Given the description of an element on the screen output the (x, y) to click on. 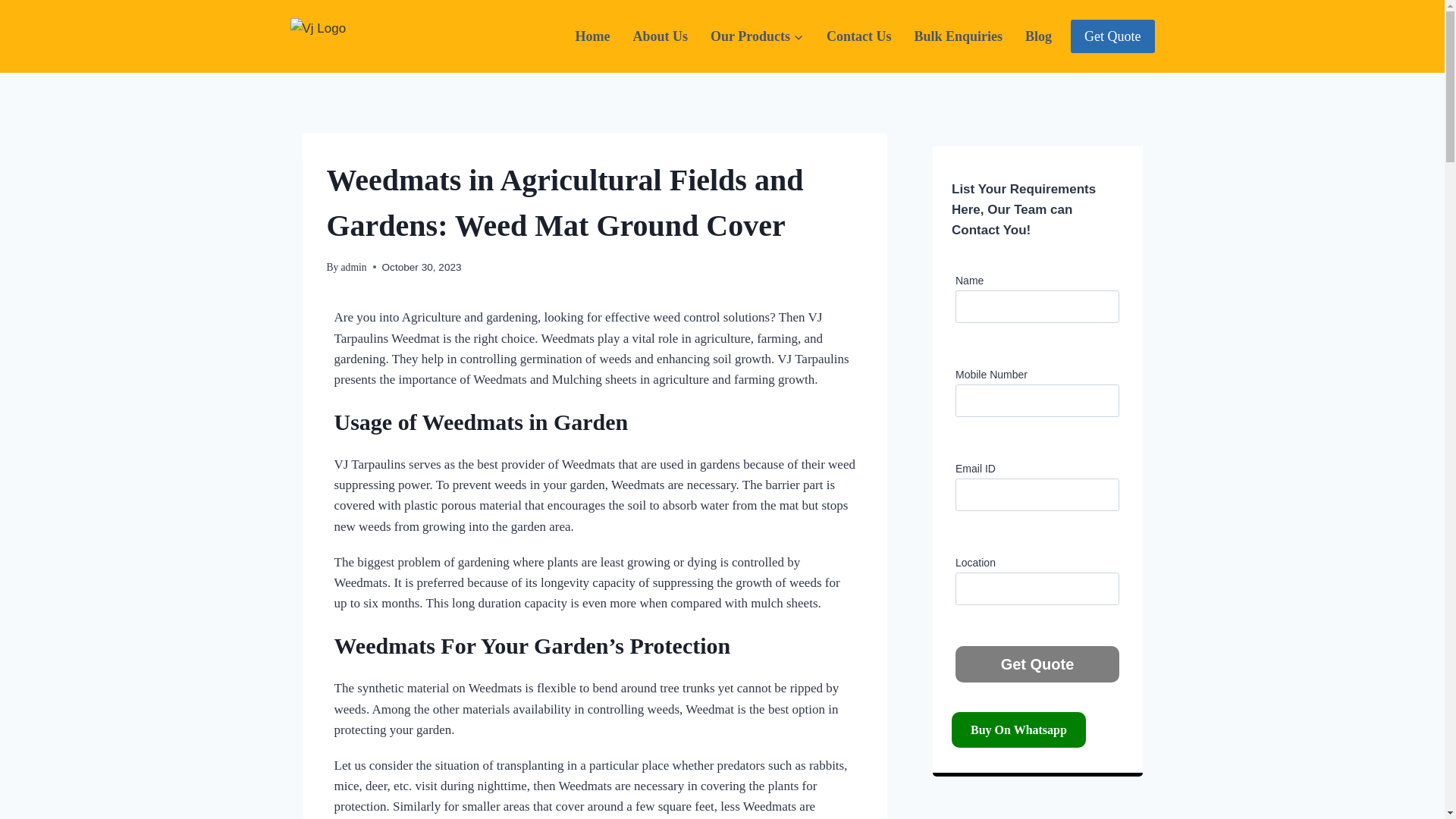
Get Quote (1037, 664)
Our Products (756, 36)
Home (592, 36)
Contact Us (858, 36)
admin (353, 266)
Get Quote (1112, 35)
Bulk Enquiries (957, 36)
Blog (1037, 36)
About Us (660, 36)
